Given the description of an element on the screen output the (x, y) to click on. 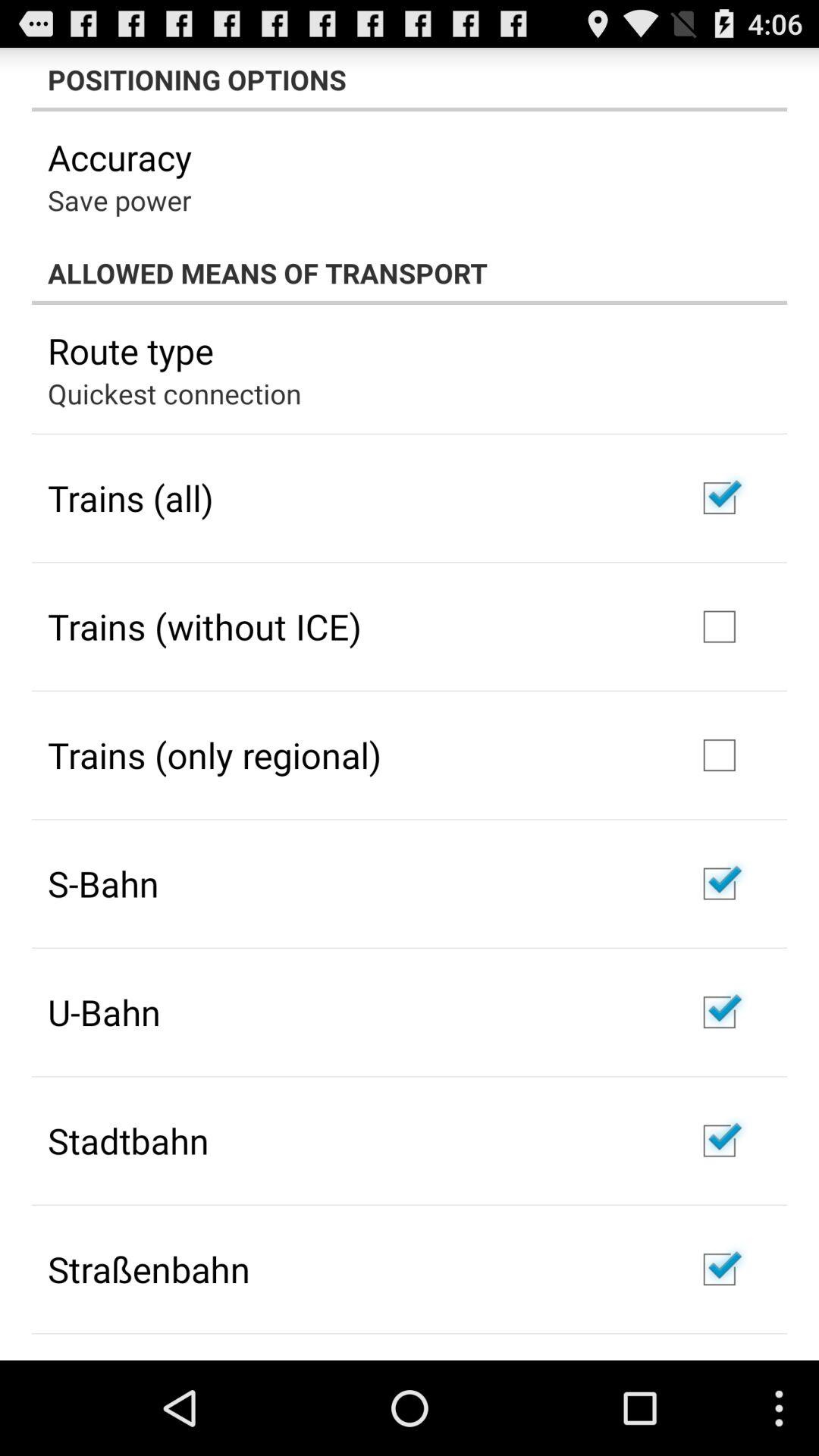
launch the item below save power (409, 272)
